Given the description of an element on the screen output the (x, y) to click on. 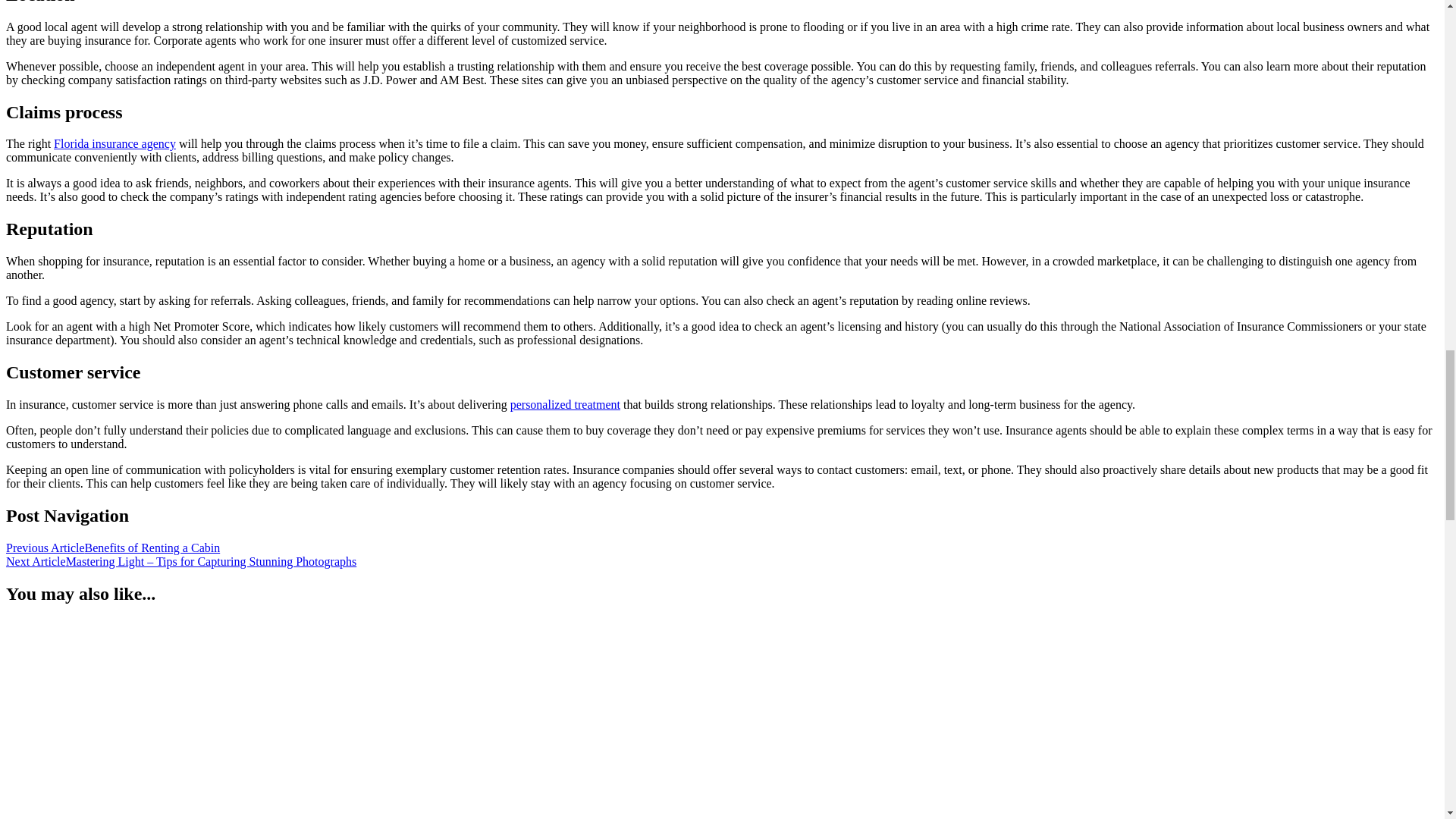
Previous ArticleBenefits of Renting a Cabin (112, 547)
Florida insurance agency (114, 143)
personalized treatment (565, 404)
